Given the description of an element on the screen output the (x, y) to click on. 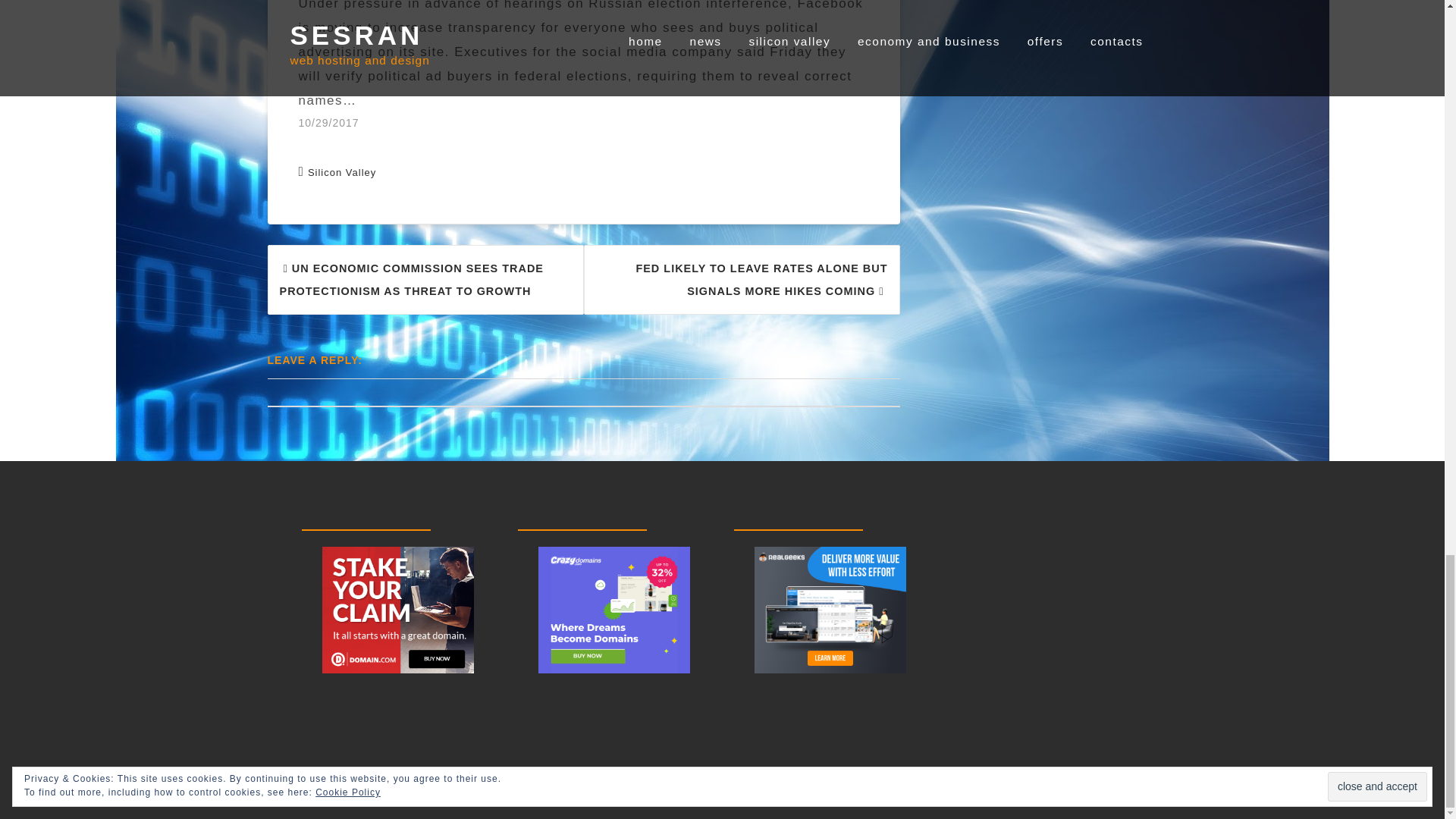
Silicon Valley (341, 172)
Facebook Moves to Increase Transparency in Political Ads (590, 66)
